Given the description of an element on the screen output the (x, y) to click on. 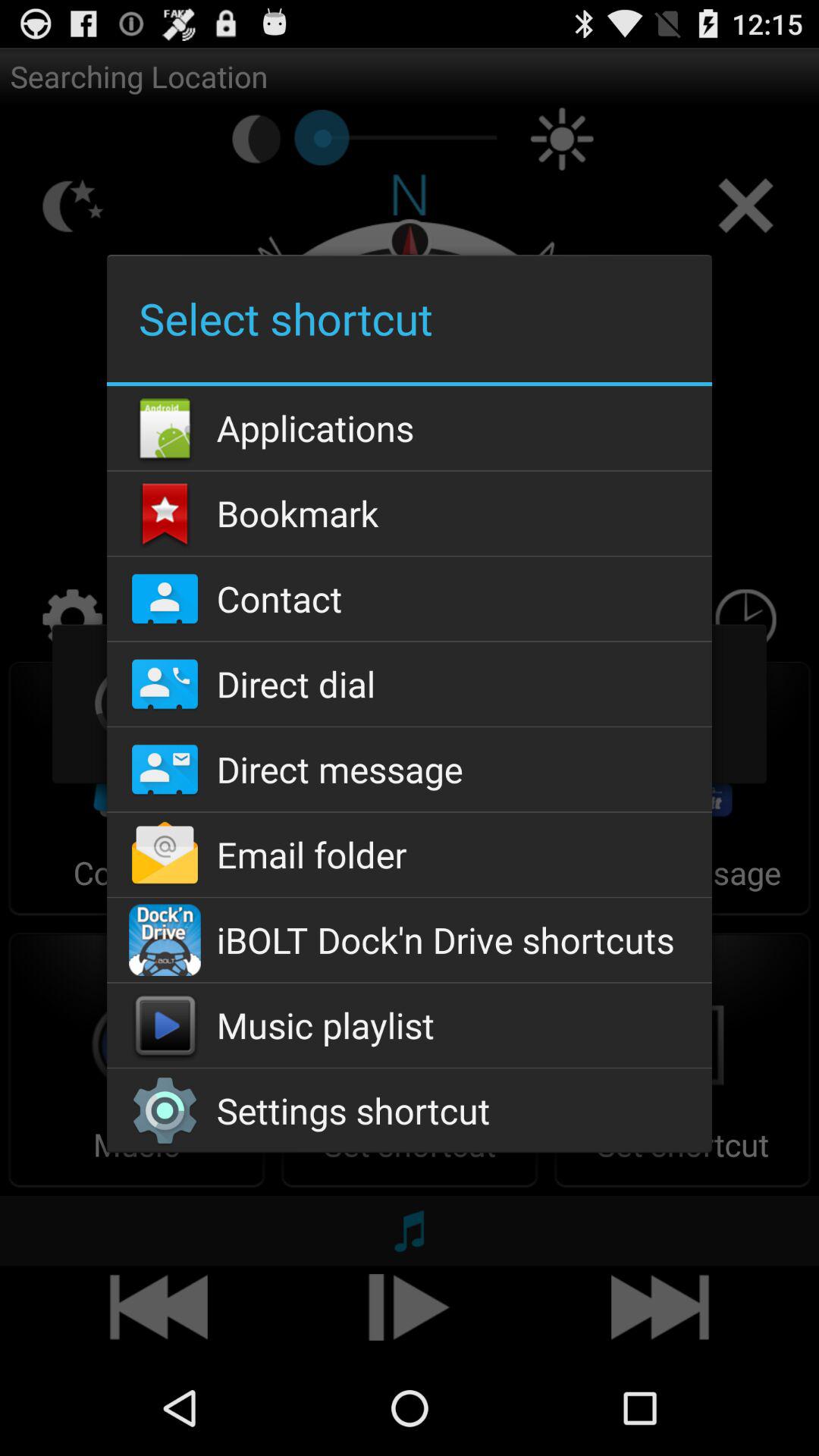
swipe to ibolt dock n item (409, 940)
